Given the description of an element on the screen output the (x, y) to click on. 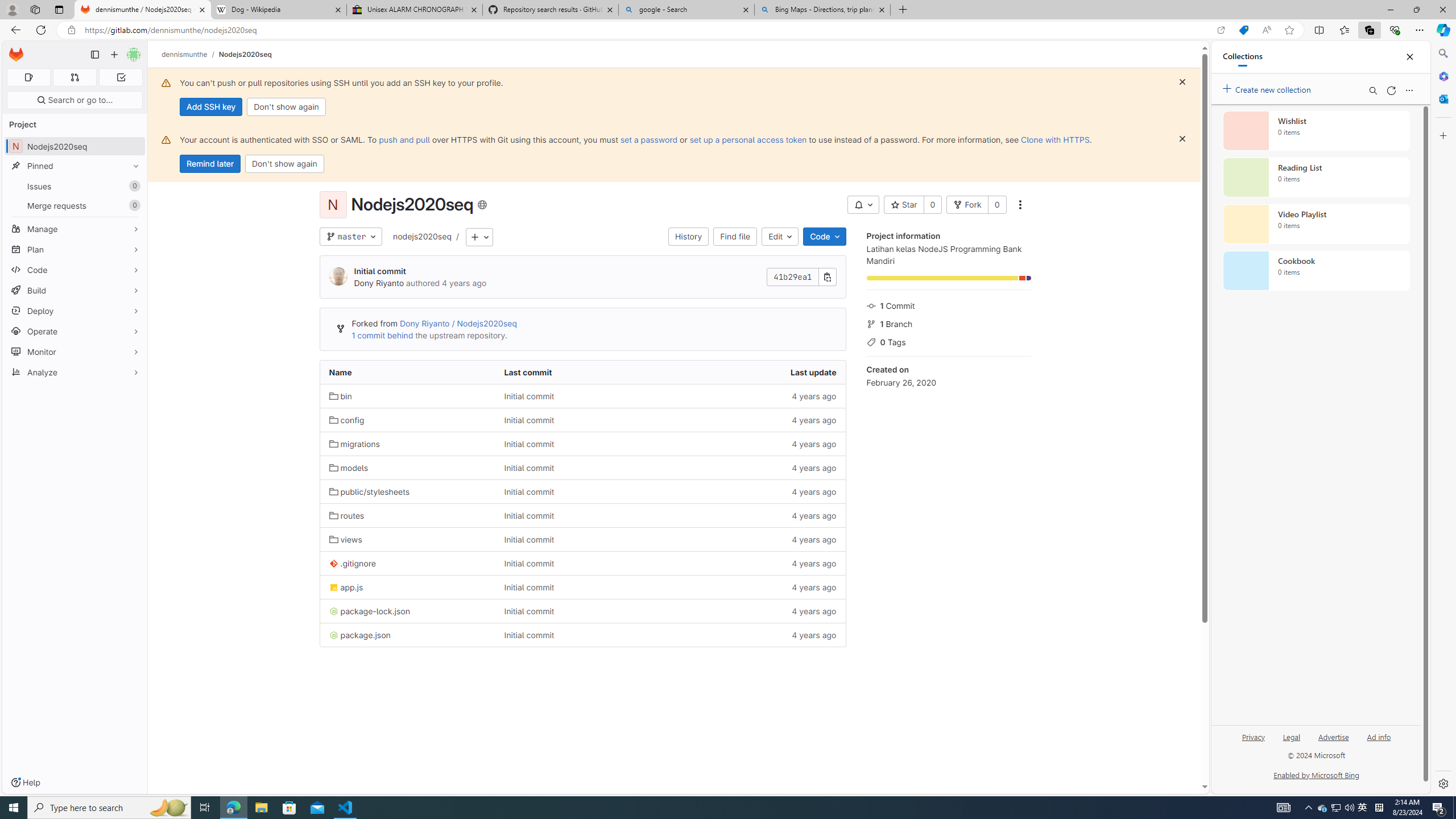
config (346, 420)
Initial commit (583, 634)
Add this page to favorites (Ctrl+D) (1289, 29)
0 Tags (948, 340)
Advertise (1333, 736)
google - Search (685, 9)
migrations (354, 444)
Restore (1416, 9)
Operate (74, 330)
package-lock.json (407, 610)
Class: s16 position-relative file-icon (333, 635)
Advertise (1333, 741)
Dog - Wikipedia (277, 9)
Search (1442, 53)
